Given the description of an element on the screen output the (x, y) to click on. 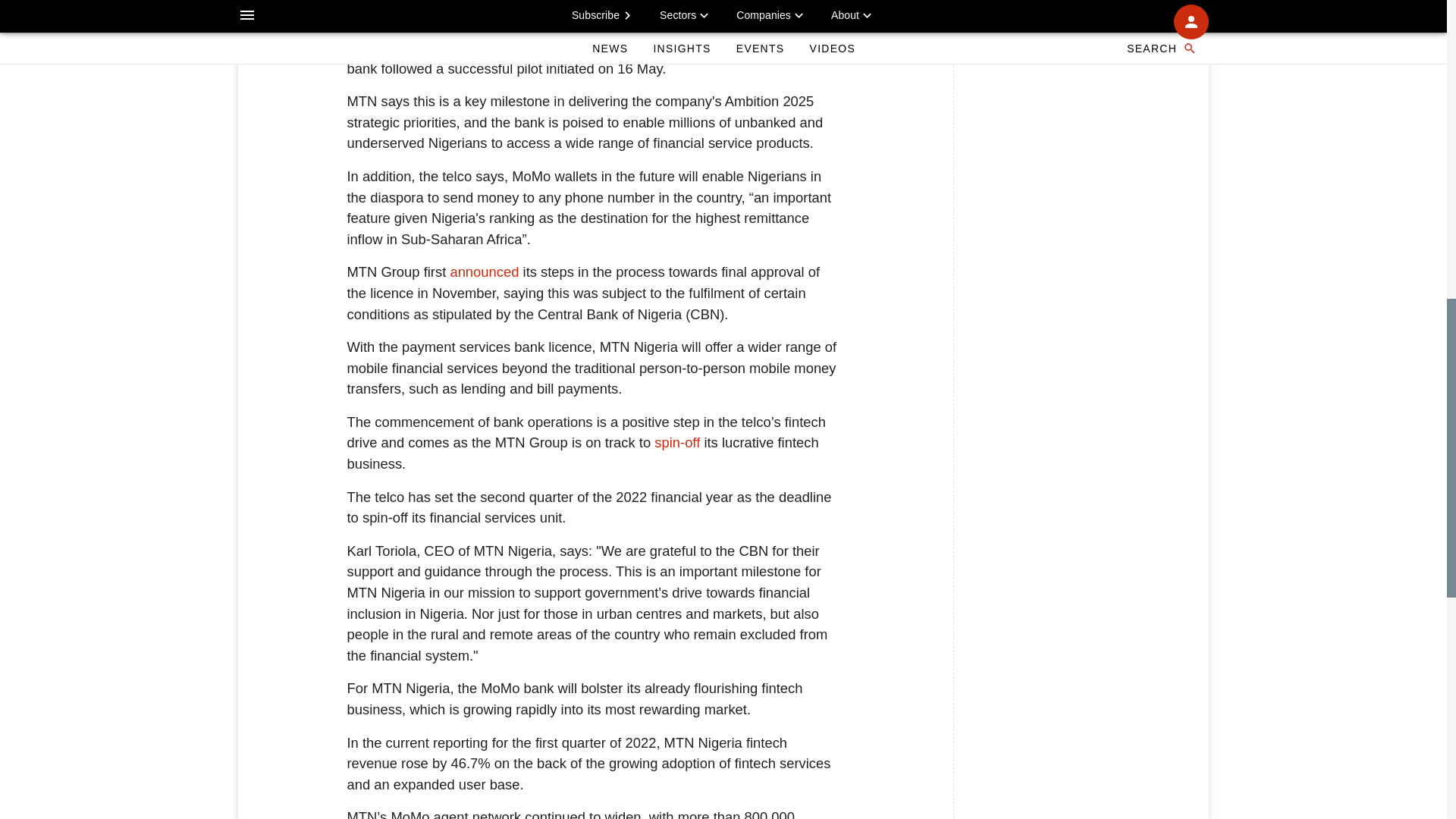
announced (483, 271)
spin-off (676, 442)
